Given the description of an element on the screen output the (x, y) to click on. 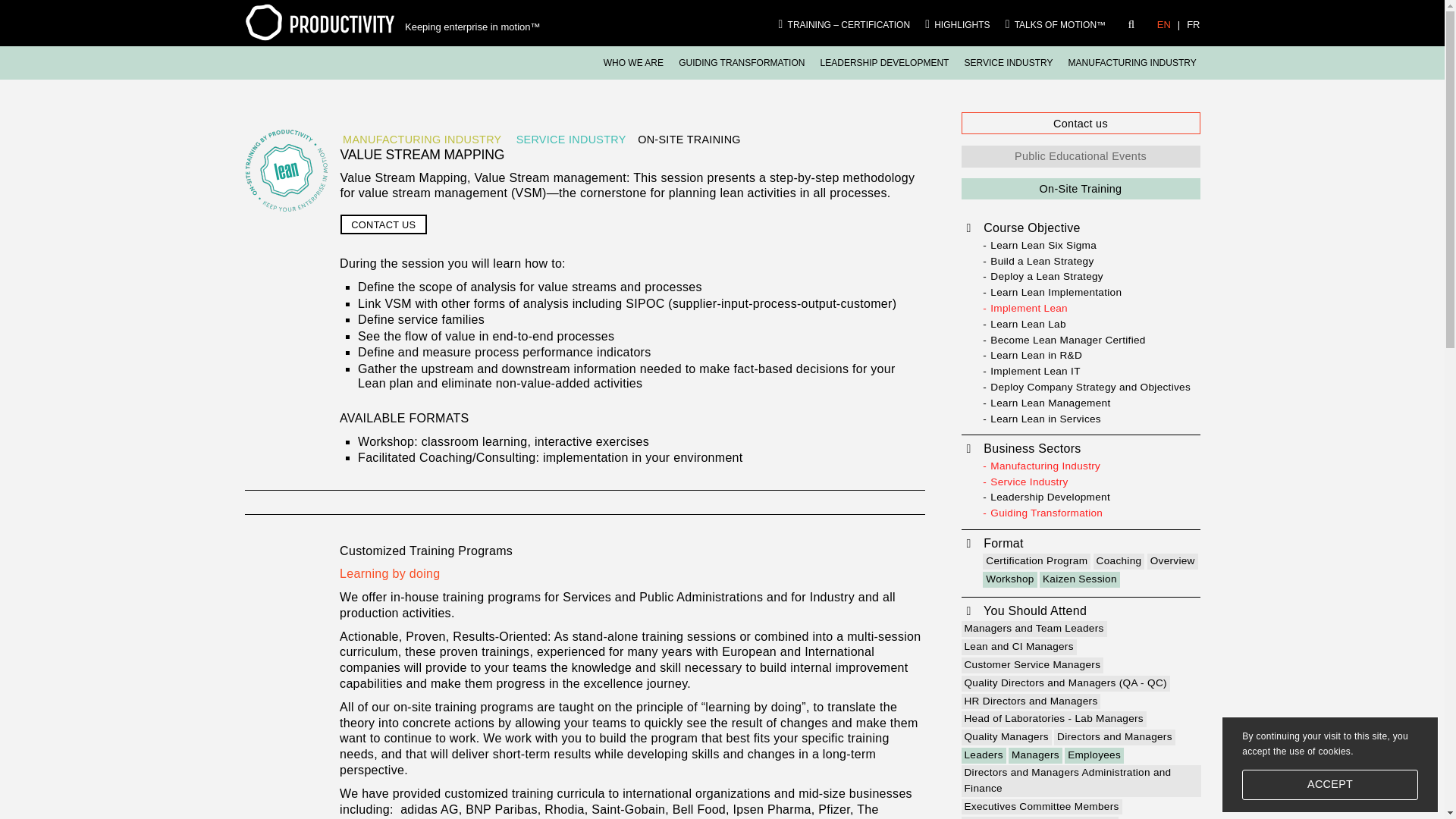
ACCEPT (1329, 784)
Value Stream Mapping (285, 170)
CONTACT US (382, 224)
